Given the description of an element on the screen output the (x, y) to click on. 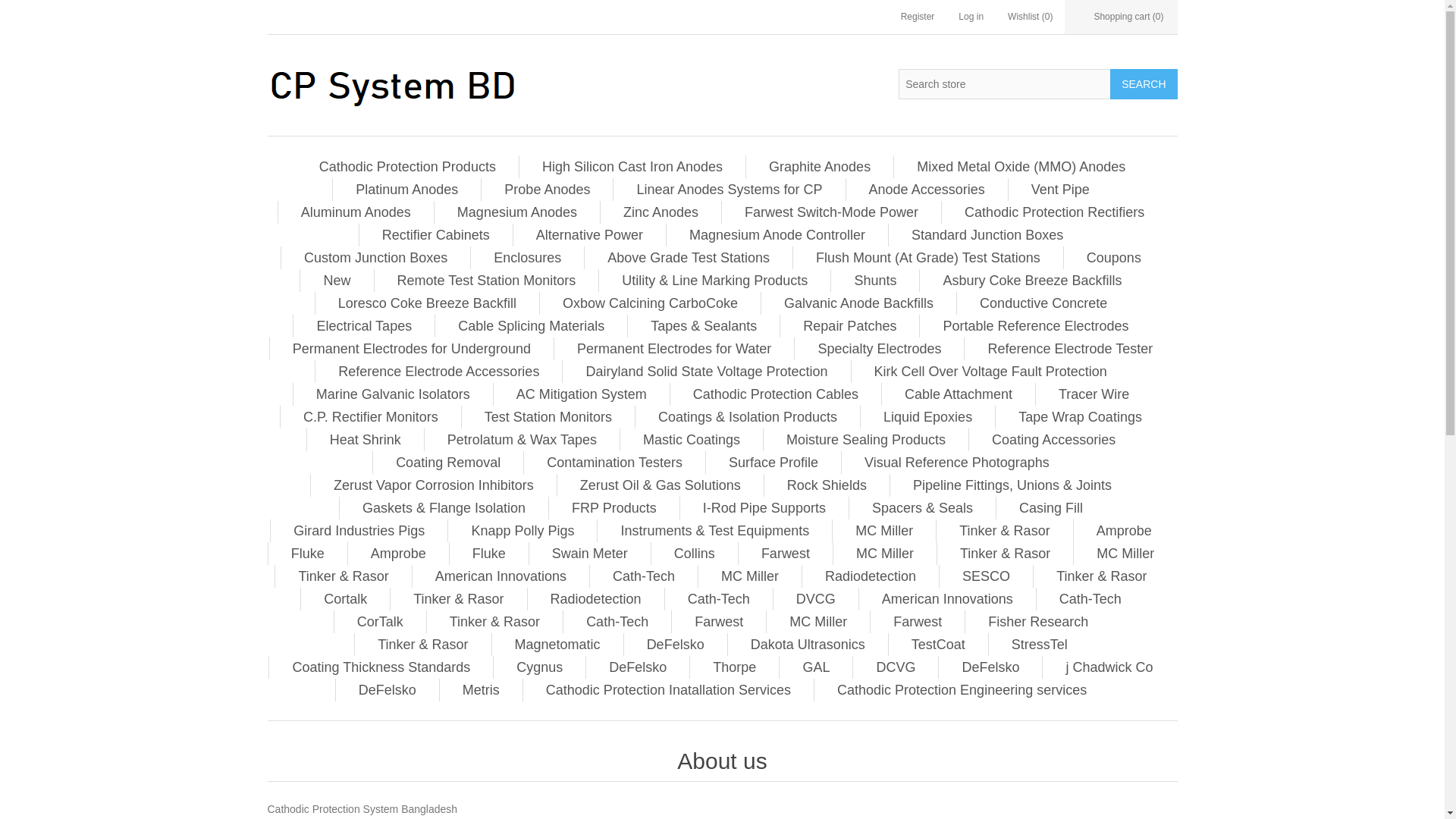
Oxbow Calcining CarboCoke (649, 302)
Galvanic Anode Backfills (858, 302)
Loresco Coke Breeze Backfill (427, 302)
Above Grade Test Stations (688, 257)
Remote Test Station Monitors (486, 280)
SEARCH (1142, 83)
Platinum Anodes (406, 189)
Cathodic Protection Products (407, 166)
New (336, 280)
Vent Pipe (1060, 189)
